Given the description of an element on the screen output the (x, y) to click on. 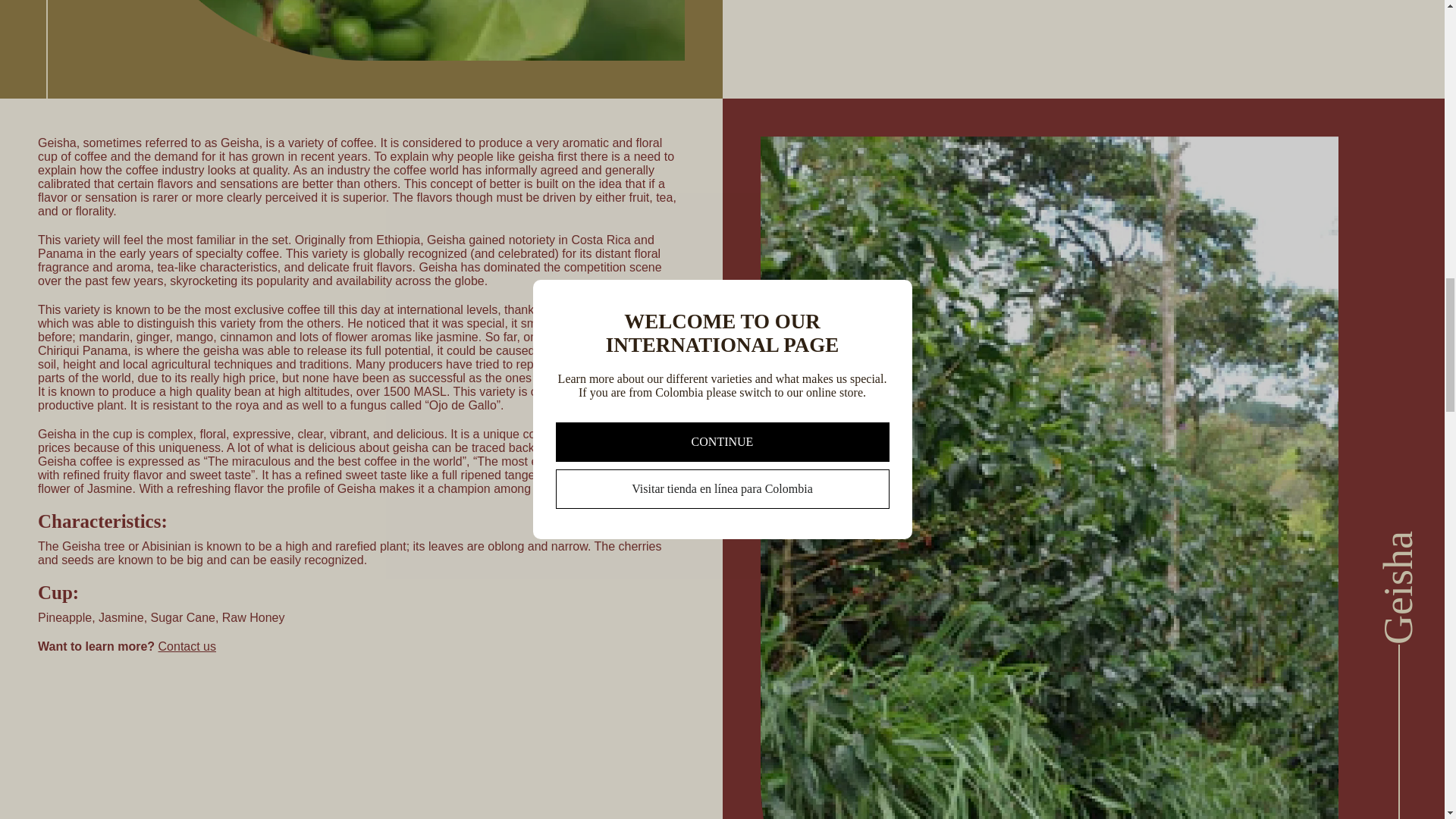
Contact us (186, 645)
Contact Us (186, 645)
